Given the description of an element on the screen output the (x, y) to click on. 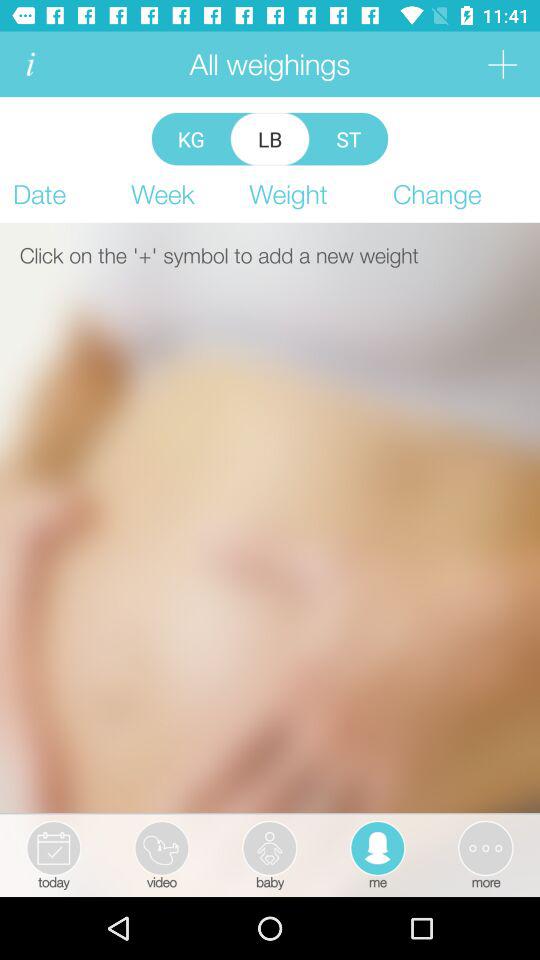
open lb item (269, 138)
